Given the description of an element on the screen output the (x, y) to click on. 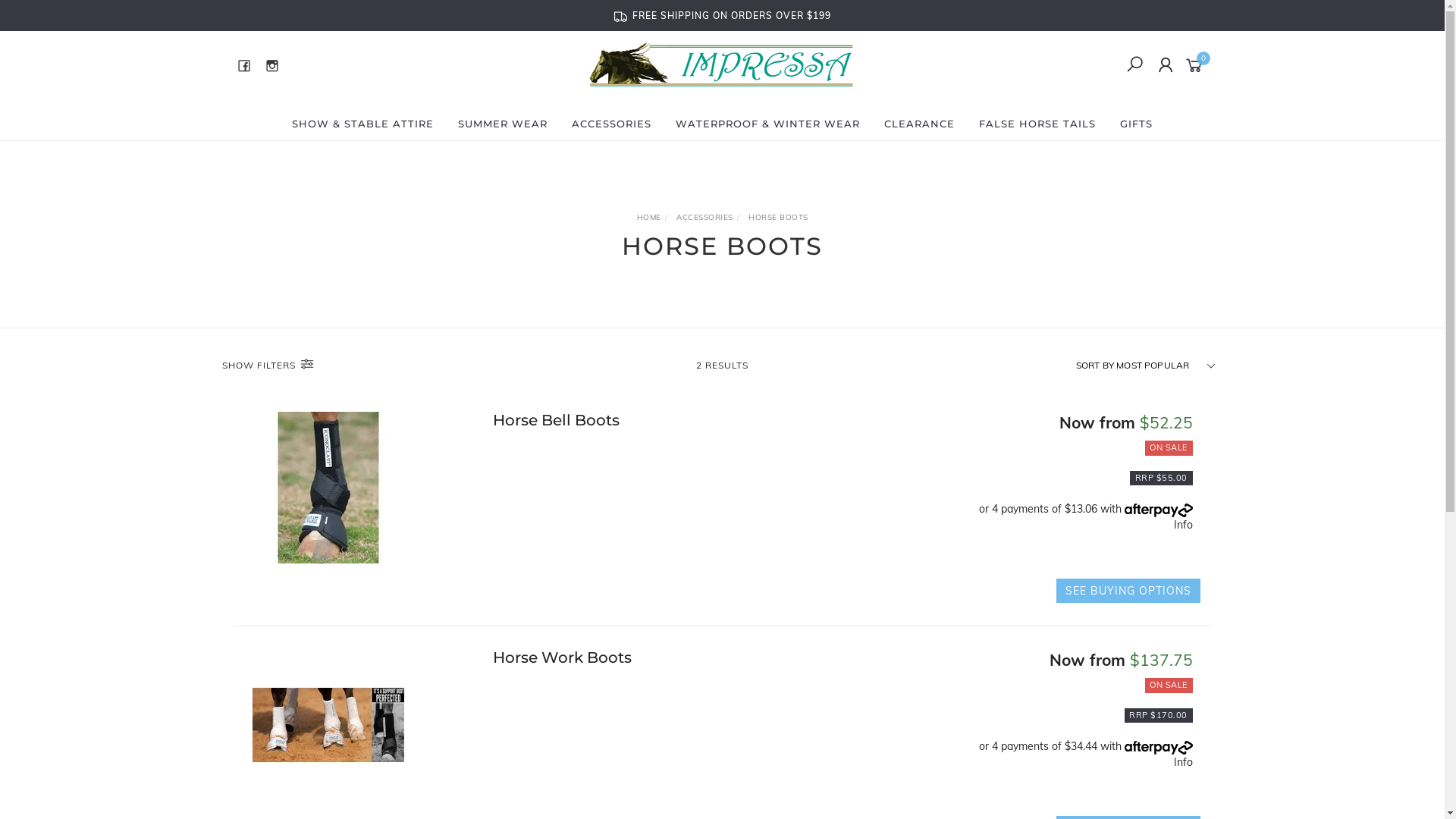
WATERPROOF & WINTER WEAR Element type: text (767, 123)
SHOW & STABLE ATTIRE Element type: text (362, 123)
FREE SHIPPING ON ORDERS OVER $199 Element type: text (722, 15)
0 Element type: text (1196, 64)
Info Element type: text (1182, 524)
HOME Element type: text (649, 217)
SEE BUYING OPTIONS Element type: text (1127, 590)
ACCESSORIES Element type: text (704, 217)
Horse Bell Boots Element type: text (555, 420)
FALSE HORSE TAILS Element type: text (1037, 123)
ACCESSORIES Element type: text (611, 123)
Info Element type: text (1182, 761)
HORSE BOOTS Element type: text (778, 217)
Impressa Equine Element type: hover (720, 64)
GIFTS Element type: text (1136, 123)
Horse Work Boots Element type: text (561, 657)
SUMMER WEAR Element type: text (502, 123)
SHOW FILTERS Element type: text (338, 364)
CLEARANCE Element type: text (919, 123)
